Given the description of an element on the screen output the (x, y) to click on. 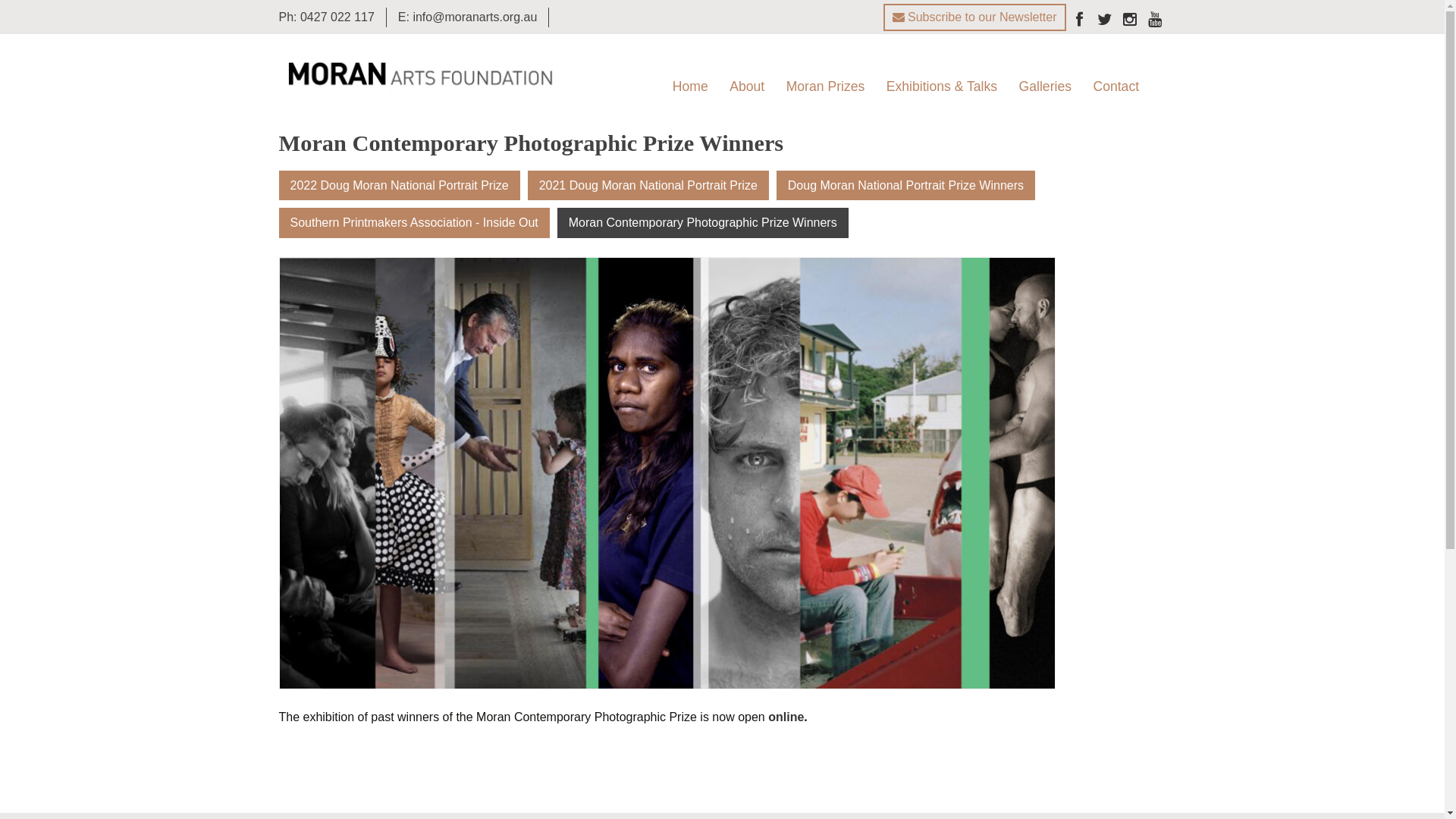
Back to Moran Arts homepage  Element type: hover (420, 74)
Follow our Youtube channel Element type: hover (1154, 20)
About Element type: text (746, 86)
Follow us on Instagram Element type: hover (1128, 20)
2021 Doug Moran National Portrait Prize Element type: text (647, 185)
Southern Printmakers Association - Inside Out Element type: text (414, 222)
Subscribe to our Newsletter Element type: text (974, 17)
Contact Element type: text (1115, 86)
Ph: 0427 022 117 Element type: text (326, 16)
Like us on Facebook Element type: hover (1078, 20)
Doug Moran National Portrait Prize Winners Element type: text (905, 185)
Home Element type: text (690, 86)
Exhibitions & Talks Element type: text (941, 86)
Tweet with us on Twitter Element type: hover (1104, 20)
online Element type: text (785, 716)
E: info@moranarts.org.au Element type: text (467, 16)
Moran Prizes Element type: text (825, 86)
Moran Contemporary Photographic Prize Winners Element type: text (702, 222)
2022 Doug Moran National Portrait Prize Element type: text (399, 185)
Moran Gallery Sylvania Element type: text (1084, 128)
Galleries Element type: text (1045, 86)
